Given the description of an element on the screen output the (x, y) to click on. 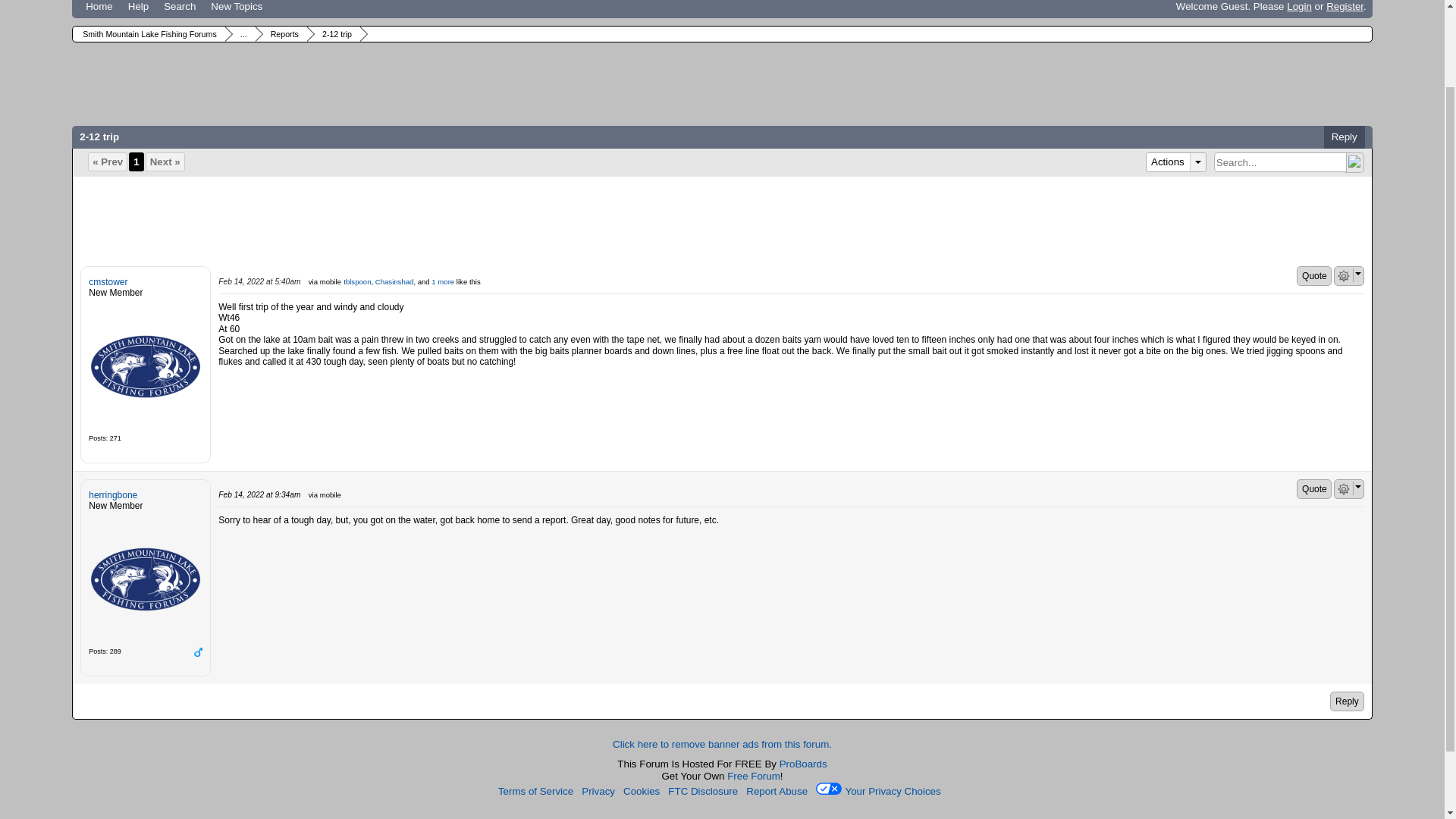
... (241, 33)
herringbone (145, 579)
Post Options (1343, 489)
Smith Mountain Lake Fishing Forums (147, 33)
Post Options (1343, 275)
Login (1299, 6)
Home (99, 9)
Male (197, 651)
cmstower (145, 366)
Reports (282, 33)
